Given the description of an element on the screen output the (x, y) to click on. 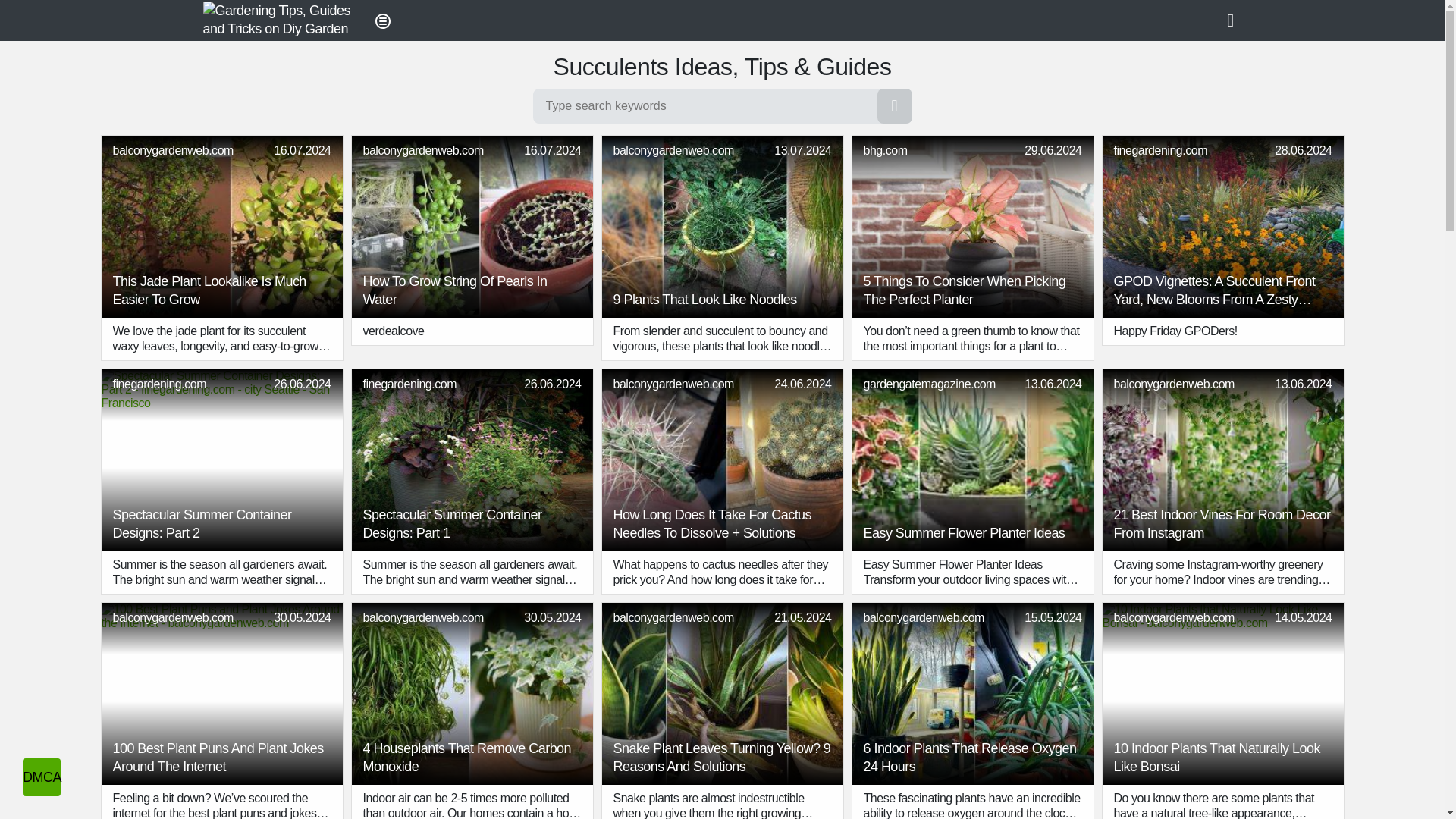
DARK MODE (1235, 20)
Gardening Tips, Guides and Tricks on Diy Garden (279, 20)
